Given the description of an element on the screen output the (x, y) to click on. 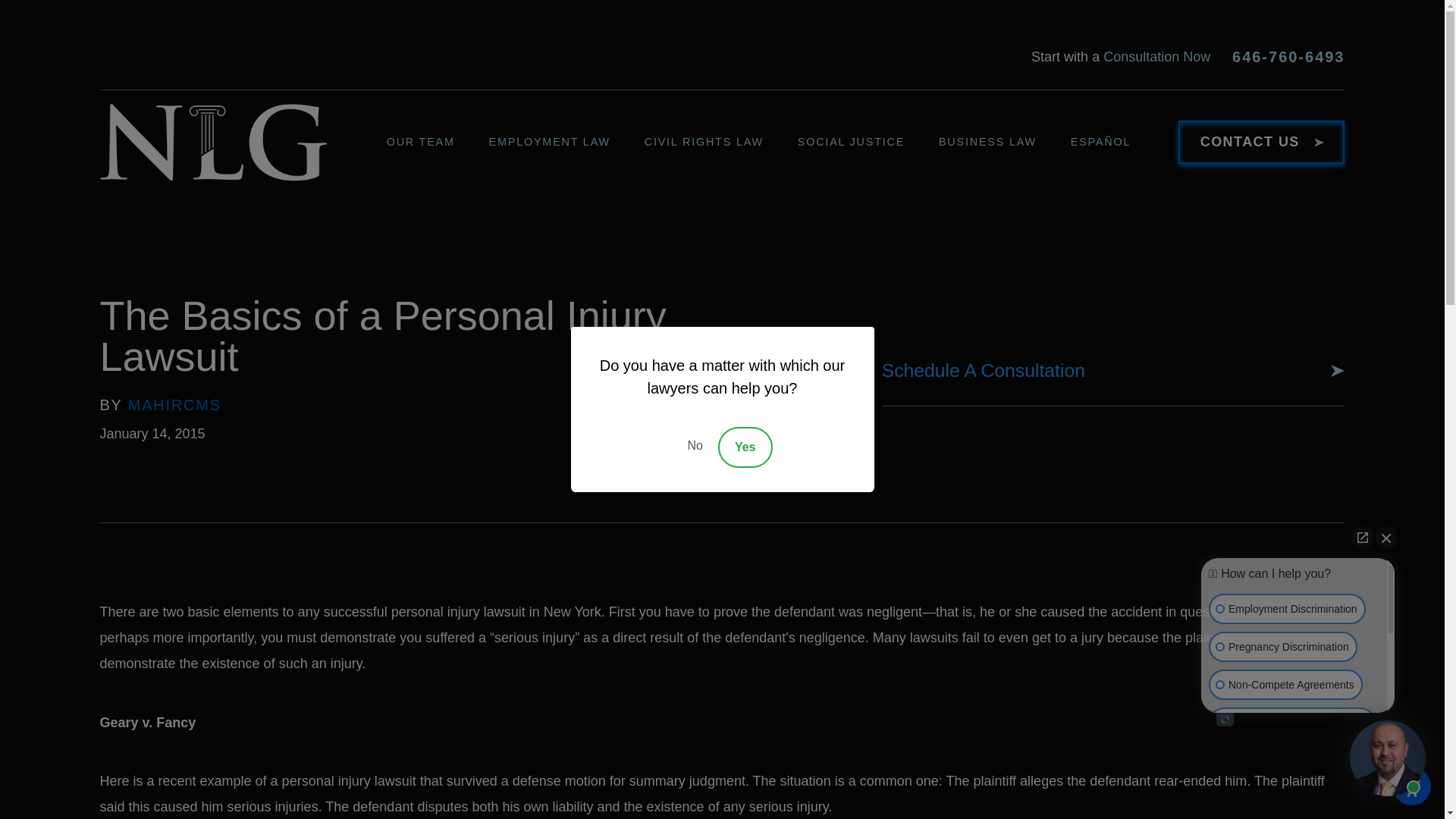
Nisar Law Group, P.C. (213, 142)
Open the accessibility options menu (1412, 786)
EMPLOYMENT LAW (561, 142)
646-760-6493 (1287, 56)
Consultation Now (1156, 56)
OUR TEAM (432, 142)
